Given the description of an element on the screen output the (x, y) to click on. 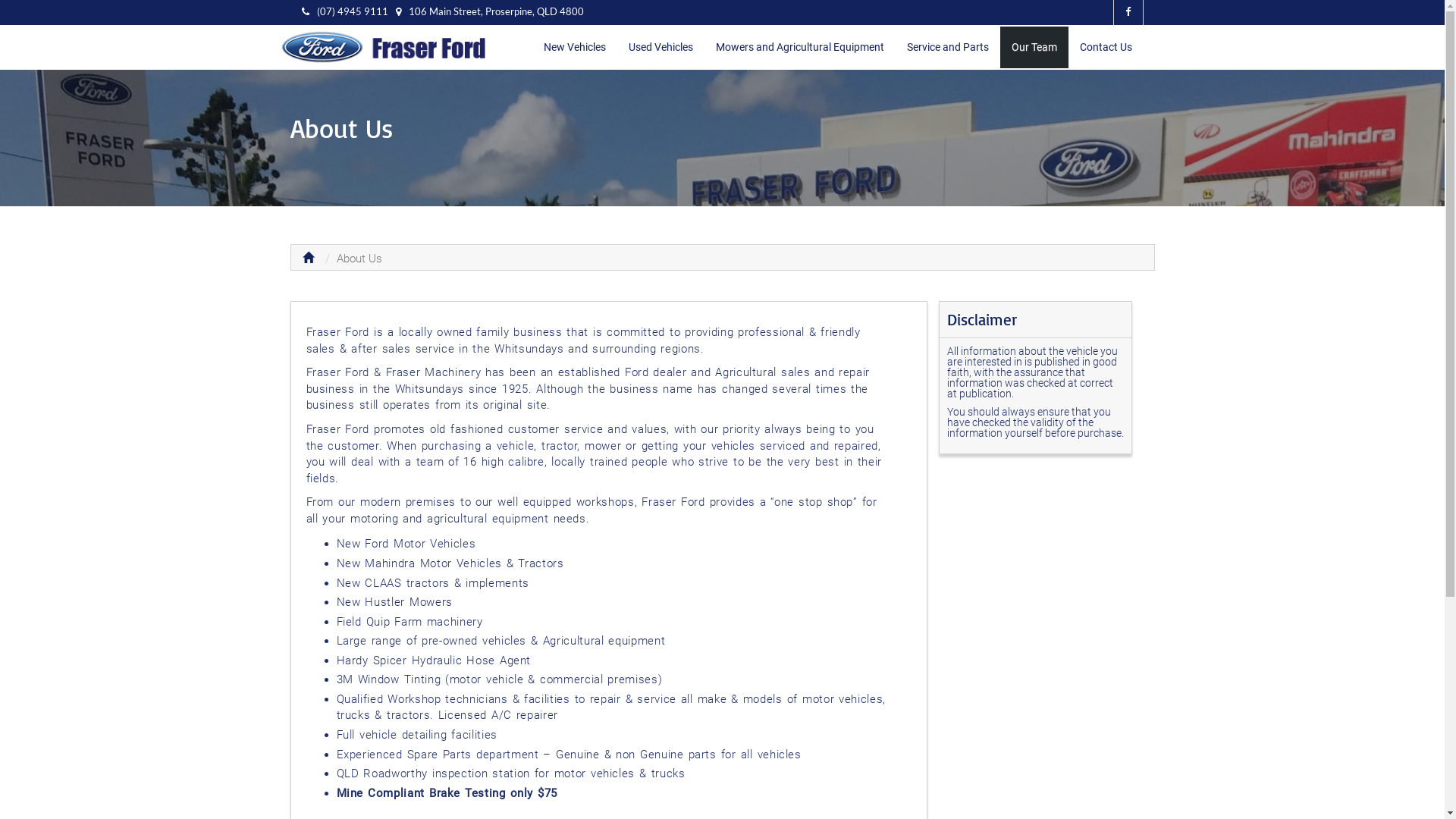
Logo Element type: hover (390, 47)
Service and Parts Element type: text (946, 47)
Car Manager Element type: hover (385, 47)
Homepage Element type: hover (307, 258)
Contact Us Element type: text (1104, 47)
facebook Element type: hover (1128, 12)
New Vehicles Element type: text (574, 47)
Used Vehicles Element type: text (660, 47)
Our Team Element type: text (1033, 47)
Mowers and Agricultural Equipment Element type: text (798, 47)
